Given the description of an element on the screen output the (x, y) to click on. 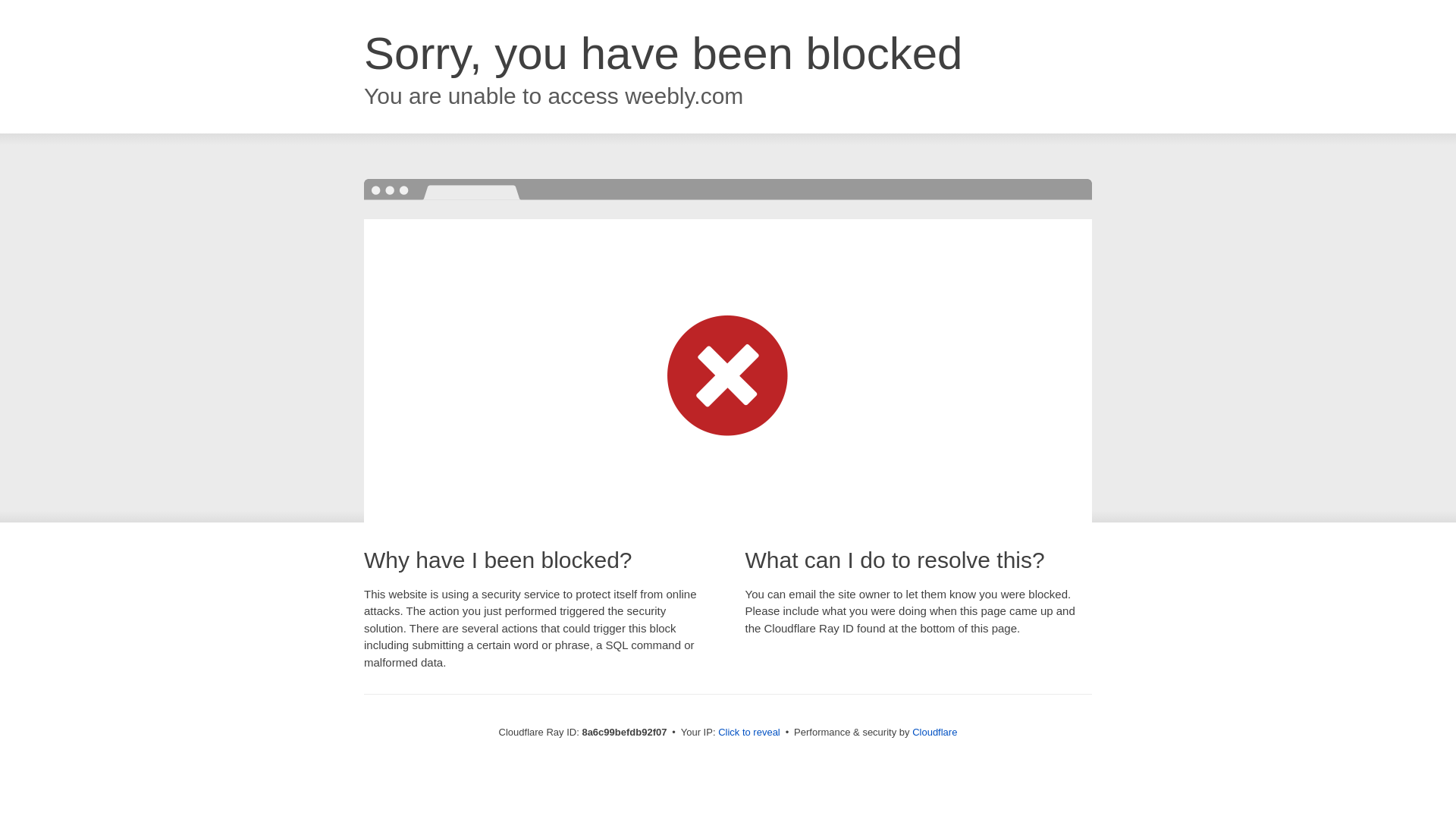
Cloudflare (934, 731)
Click to reveal (748, 732)
